Given the description of an element on the screen output the (x, y) to click on. 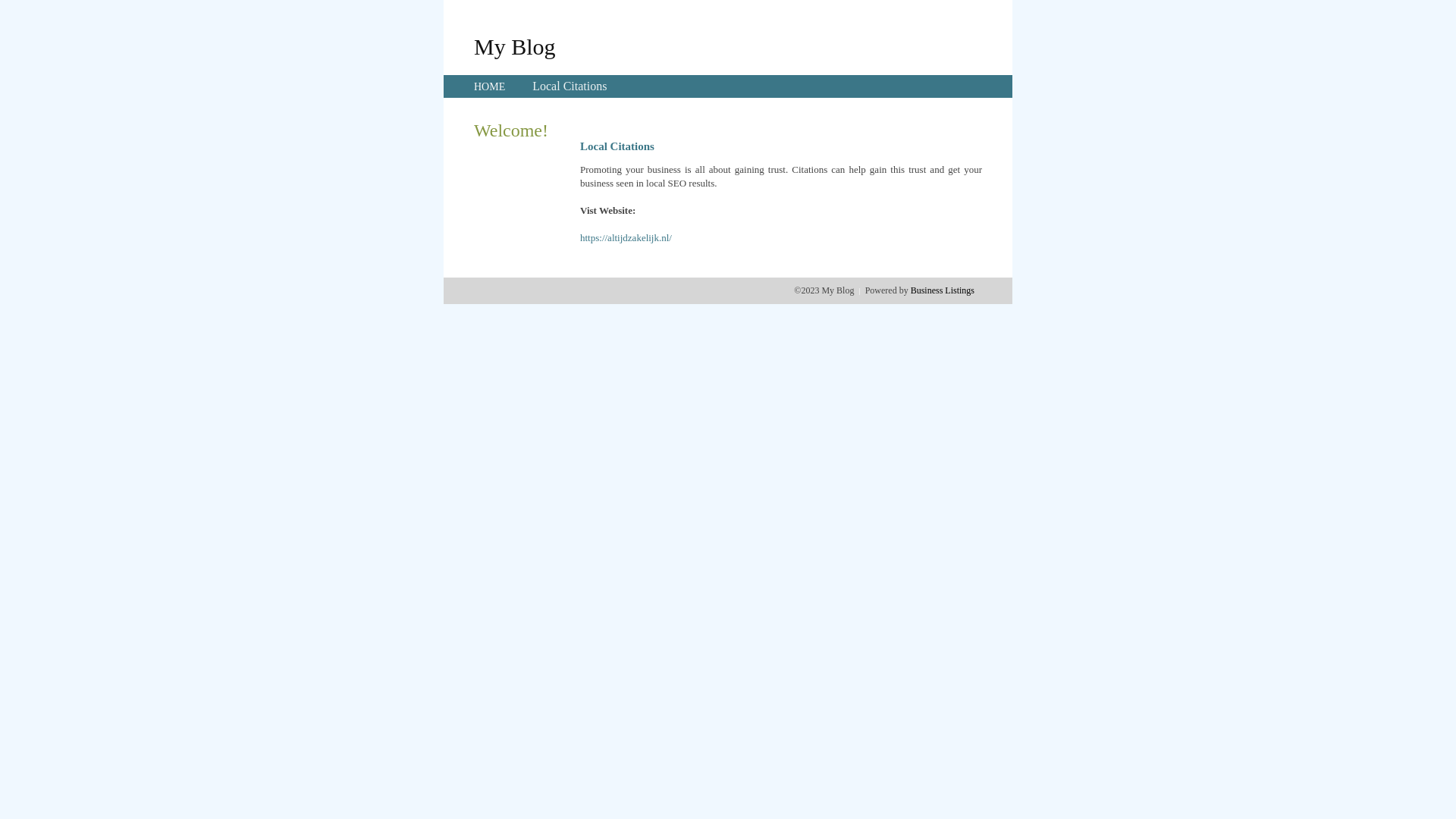
My Blog Element type: text (514, 46)
https://altijdzakelijk.nl/ Element type: text (625, 237)
Business Listings Element type: text (942, 290)
HOME Element type: text (489, 86)
Local Citations Element type: text (569, 85)
